Given the description of an element on the screen output the (x, y) to click on. 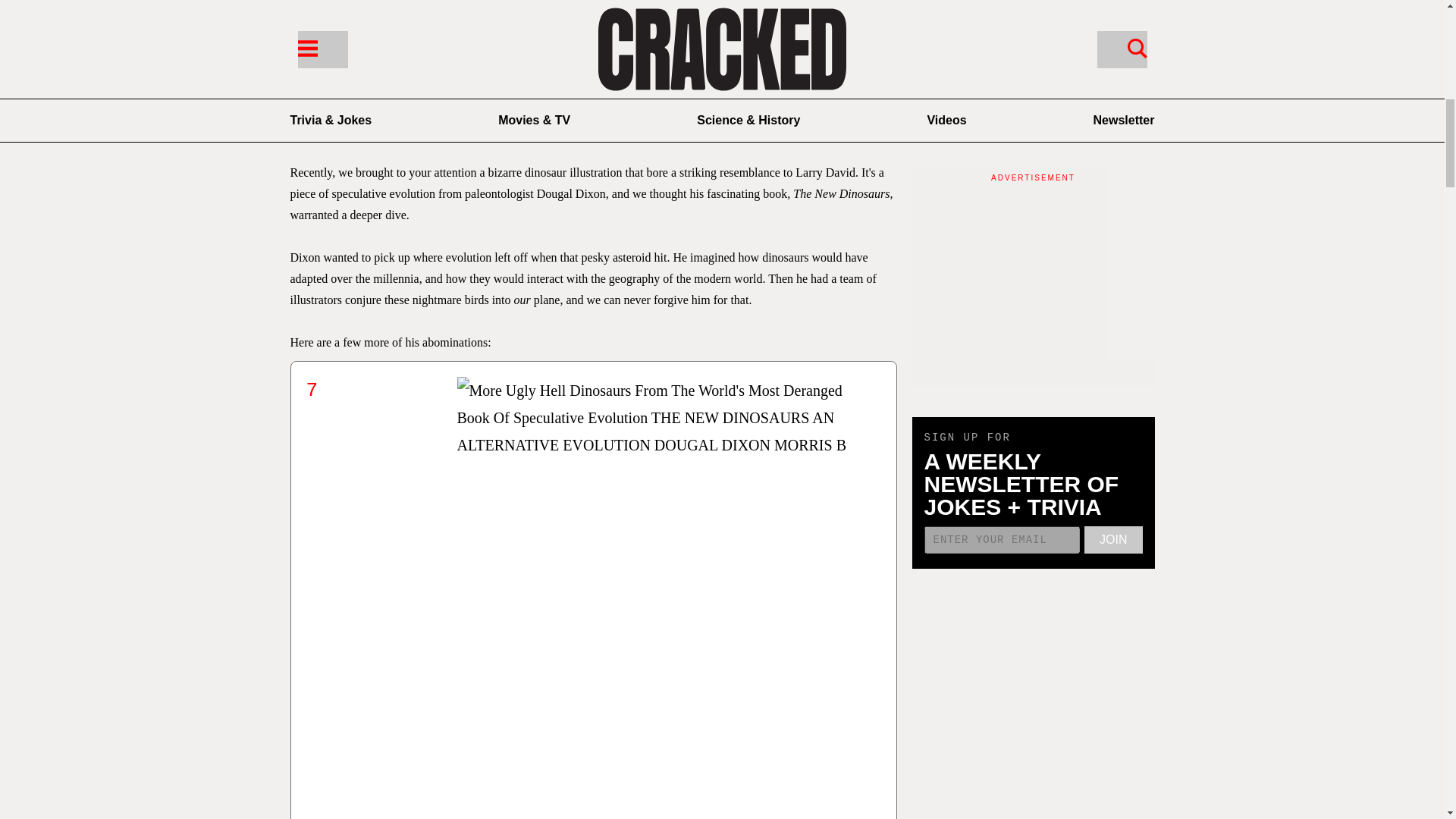
Jesse (387, 108)
striking resemblance to Larry David (767, 172)
